Given the description of an element on the screen output the (x, y) to click on. 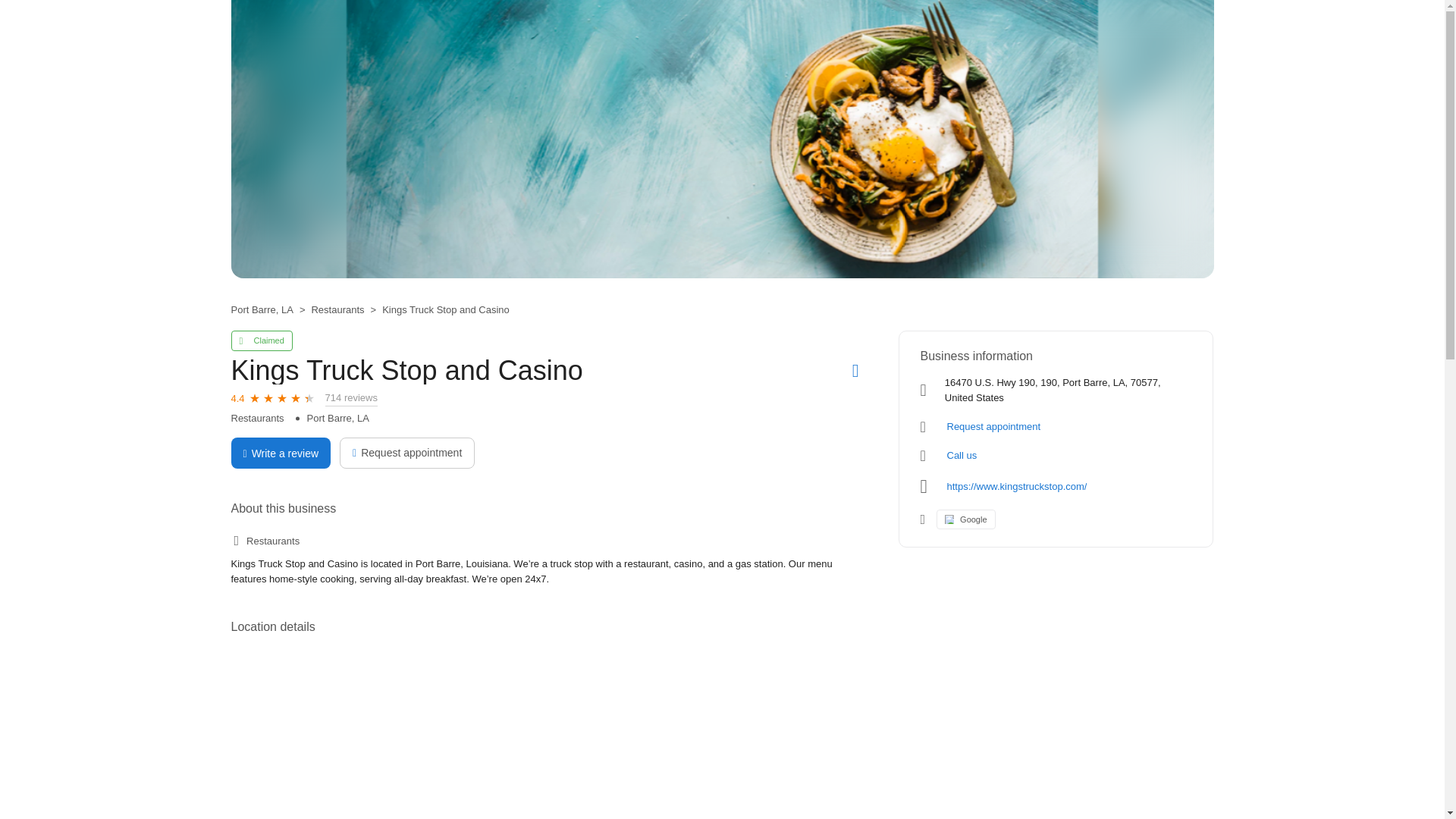
Call us (961, 455)
Request appointment (406, 452)
Google (965, 519)
Write a review (280, 452)
714 reviews (350, 398)
